Given the description of an element on the screen output the (x, y) to click on. 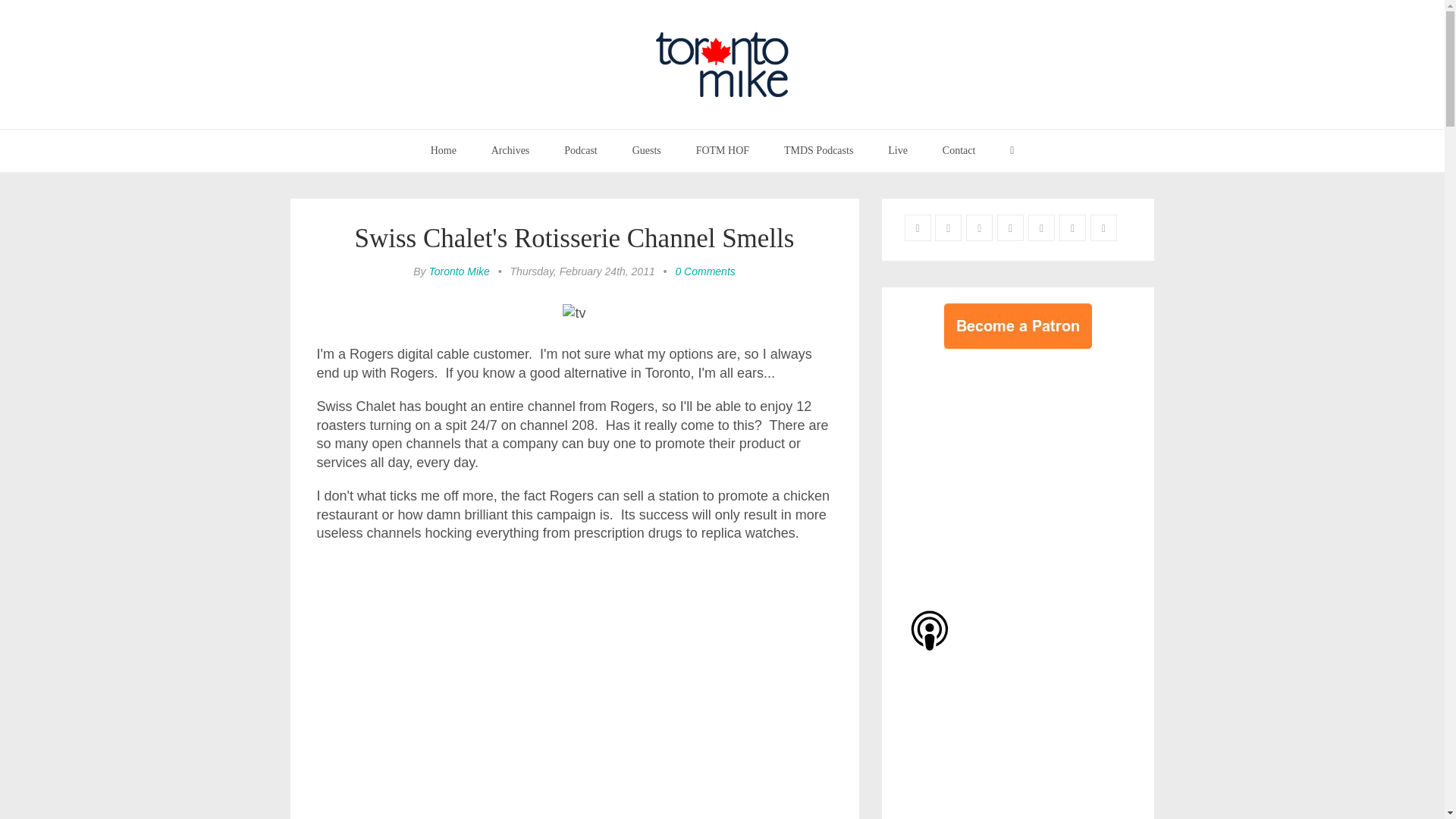
Podcast (580, 150)
Archives (511, 150)
Home (442, 150)
0 Comments (705, 271)
FOTM HOF (722, 150)
TMDS Podcasts (818, 150)
Contact (958, 150)
Toronto Mike (458, 271)
Guests (646, 150)
Live (897, 150)
YouTube video player (574, 688)
